Given the description of an element on the screen output the (x, y) to click on. 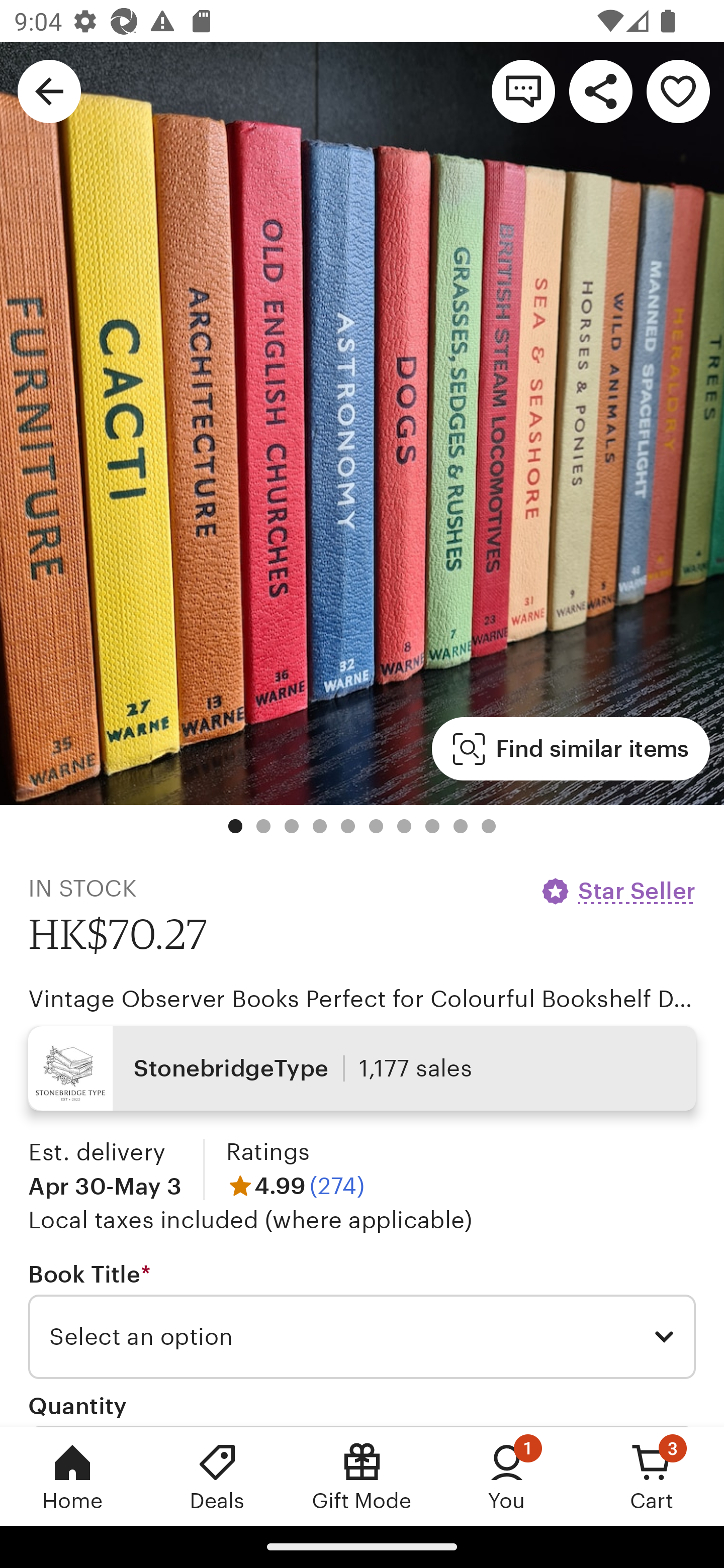
Navigate up (49, 90)
Contact shop (523, 90)
Share (600, 90)
Find similar items (571, 748)
Star Seller (617, 890)
StonebridgeType 1,177 sales (361, 1067)
Ratings (267, 1151)
4.99 (274) (294, 1185)
Book Title * Required Select an option (361, 1319)
Select an option (361, 1336)
Quantity (77, 1405)
Deals (216, 1475)
Gift Mode (361, 1475)
You, 1 new notification You (506, 1475)
Cart, 3 new notifications Cart (651, 1475)
